Given the description of an element on the screen output the (x, y) to click on. 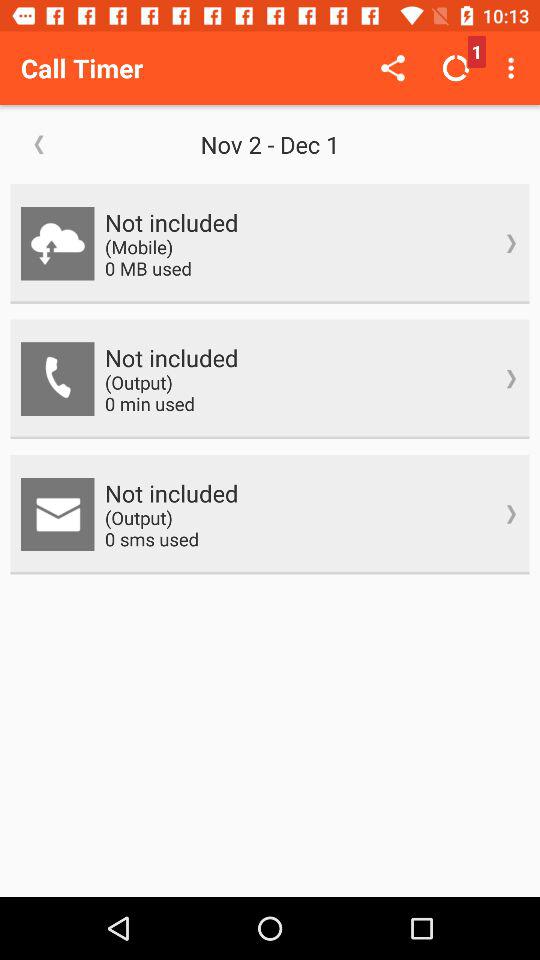
turn off icon below call timer (39, 144)
